Given the description of an element on the screen output the (x, y) to click on. 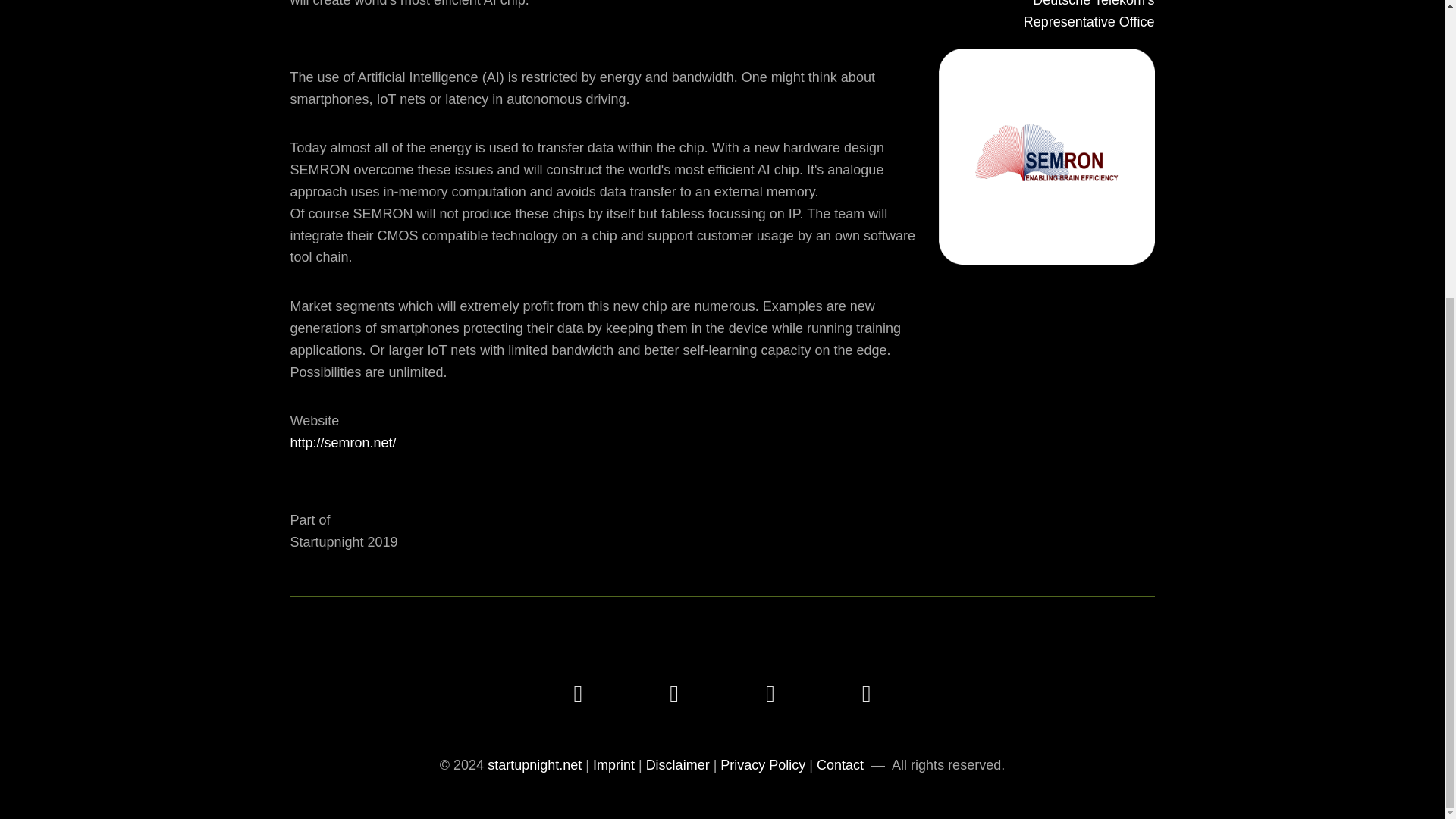
Deutsche Telekom's Representative Office (1046, 25)
